Given the description of an element on the screen output the (x, y) to click on. 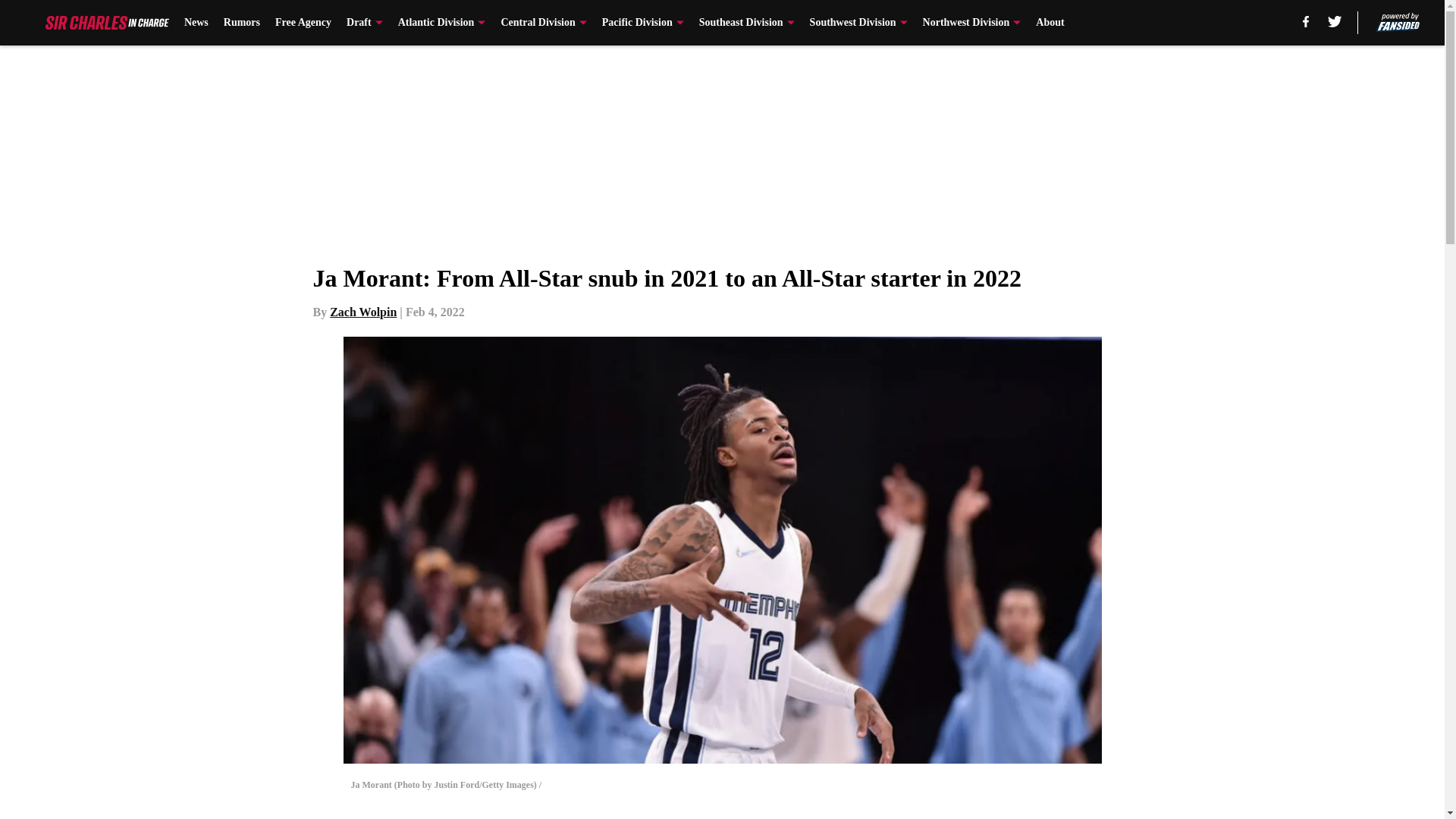
Atlantic Division (441, 22)
Pacific Division (643, 22)
News (196, 22)
Free Agency (303, 22)
Central Division (543, 22)
Draft (364, 22)
Southeast Division (746, 22)
Rumors (242, 22)
